Given the description of an element on the screen output the (x, y) to click on. 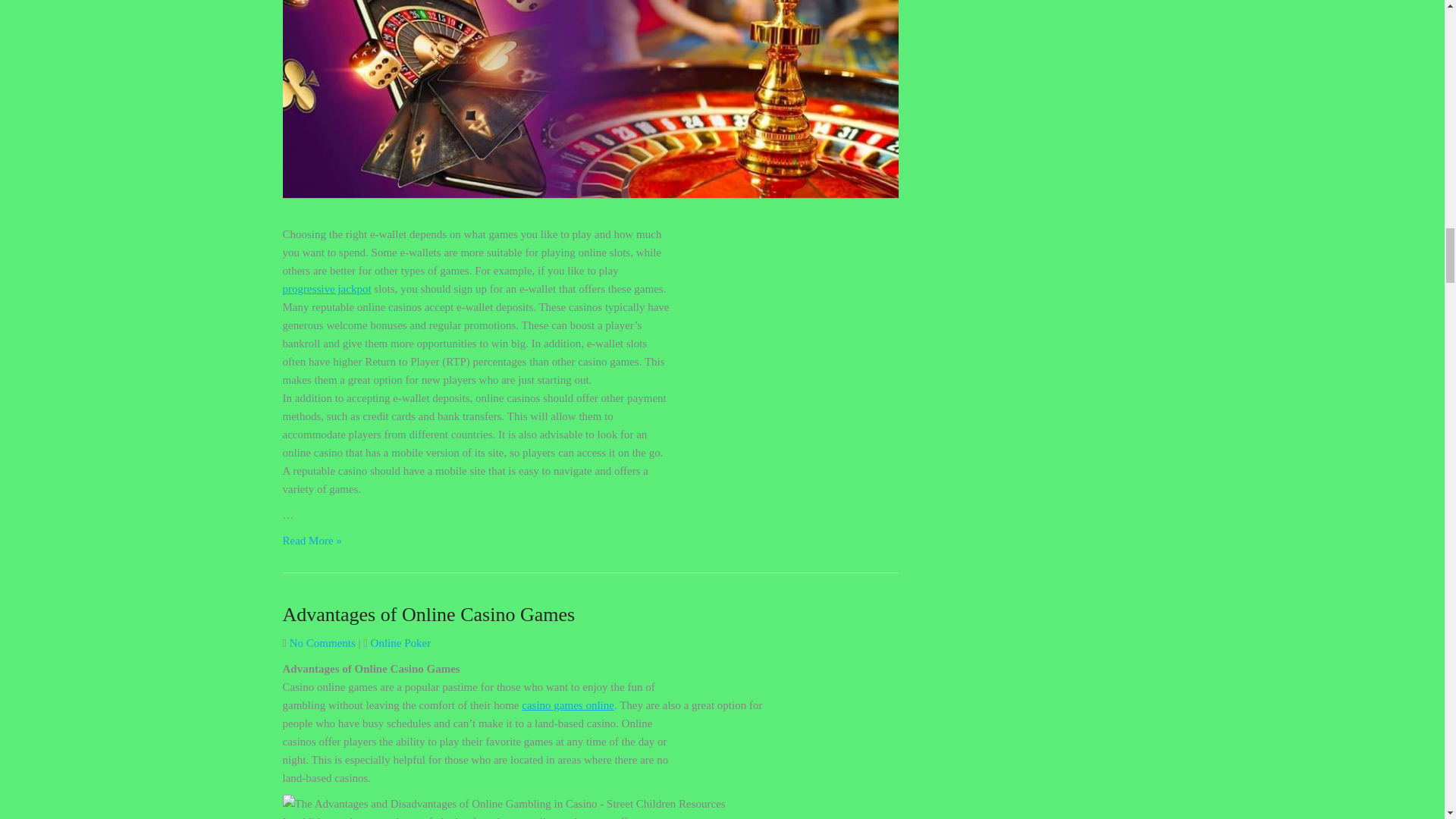
progressive jackpot (326, 288)
Online Poker (400, 643)
casino games online (567, 705)
No Comments (322, 643)
Advantages of Online Casino Games (428, 614)
